Given the description of an element on the screen output the (x, y) to click on. 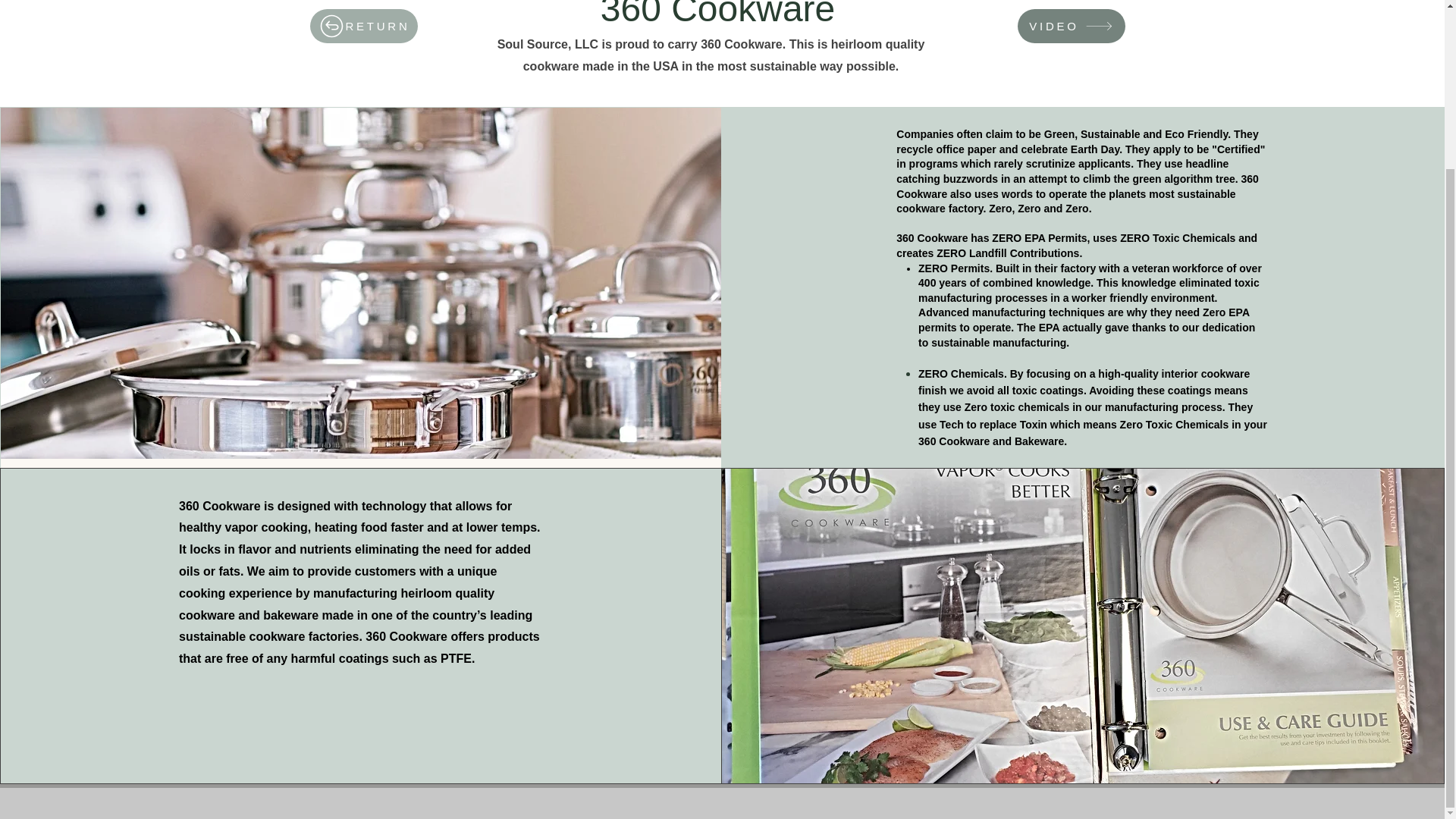
VIDEO (1071, 26)
RETURN (362, 26)
